Given the description of an element on the screen output the (x, y) to click on. 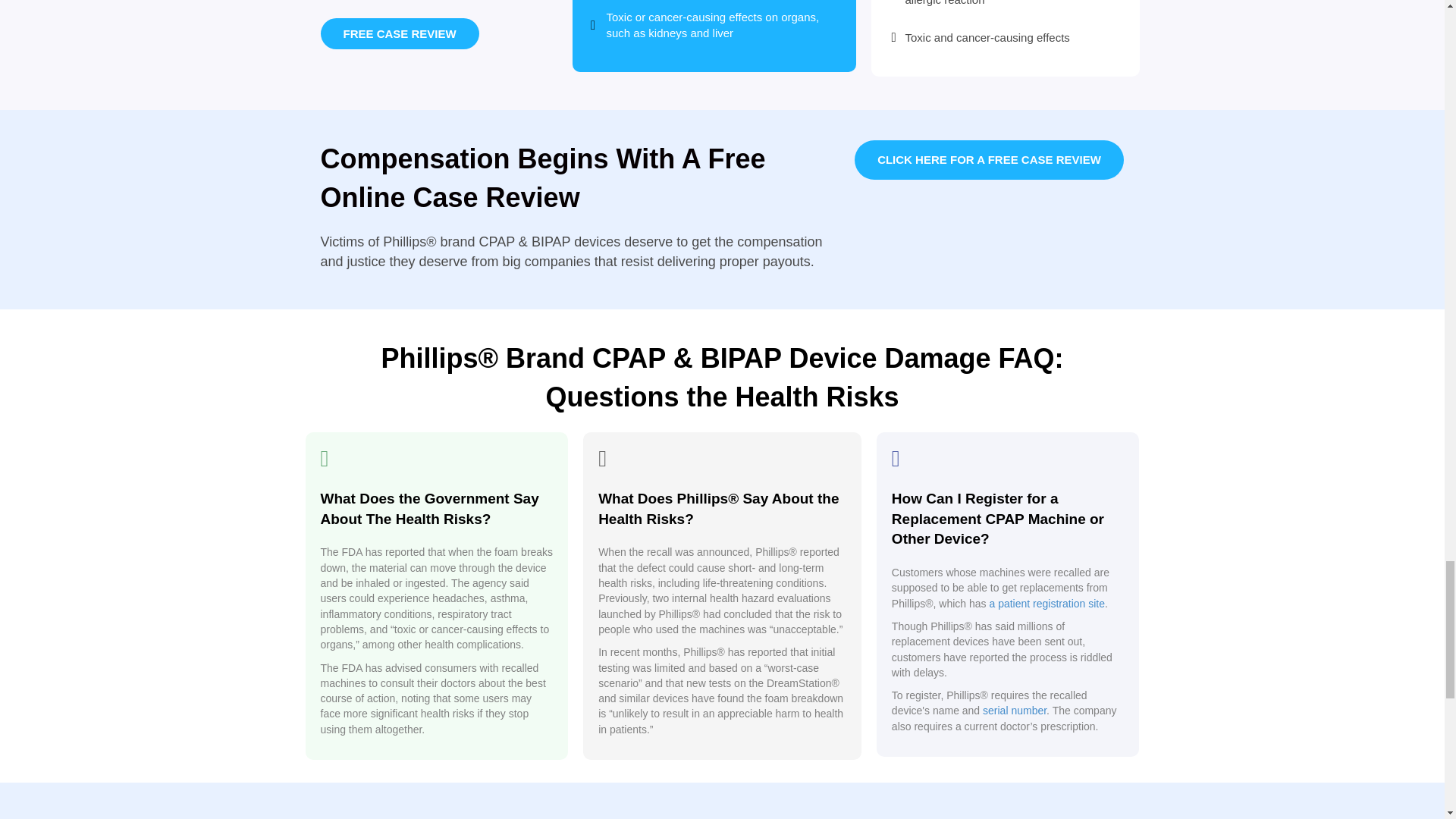
a patient registration site (1046, 603)
CLICK HERE FOR A FREE CASE REVIEW (989, 159)
serial number (1014, 710)
FREE CASE REVIEW (399, 33)
